Given the description of an element on the screen output the (x, y) to click on. 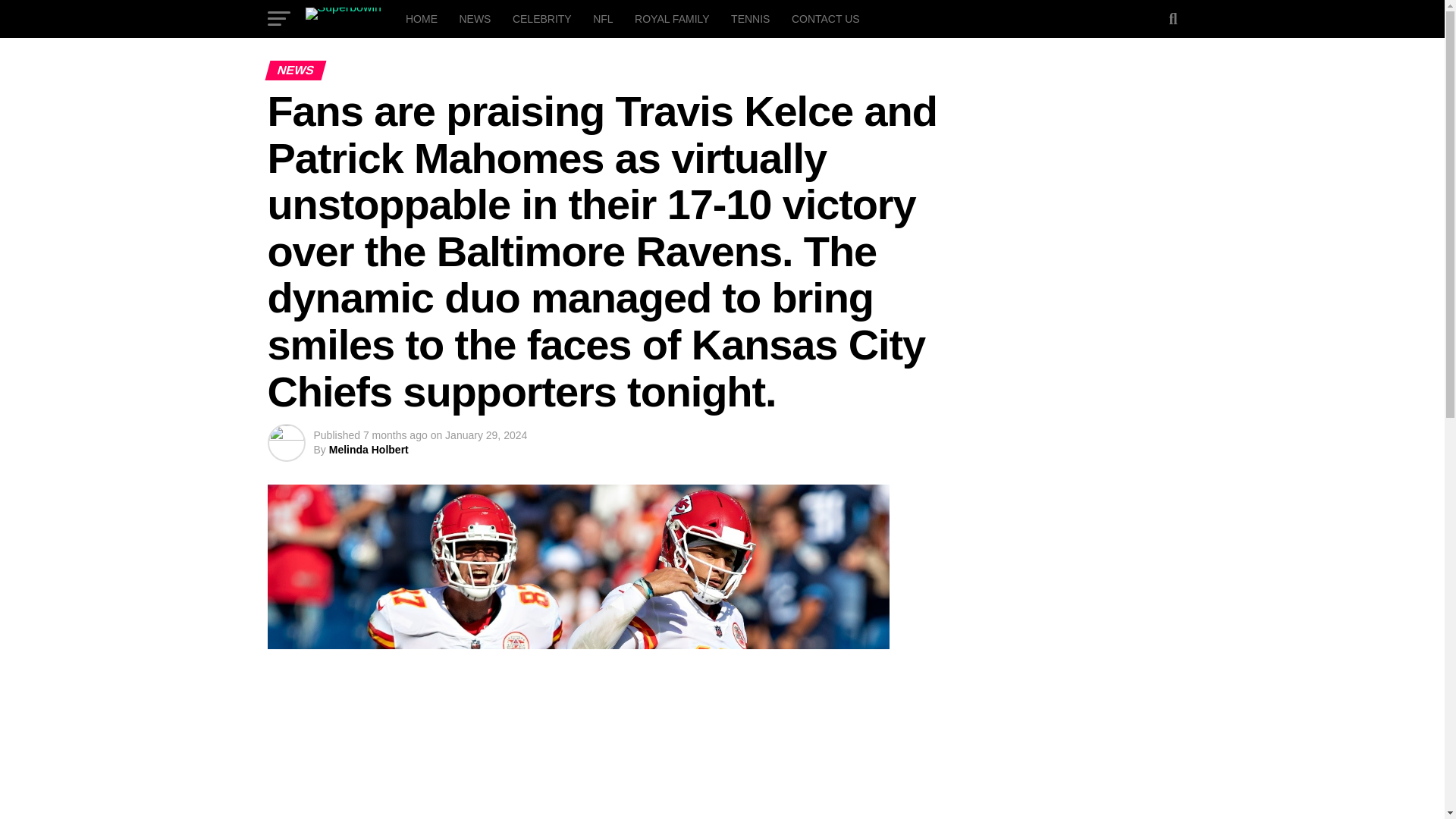
ROYAL FAMILY (672, 18)
NFL (602, 18)
CONTACT US (826, 18)
HOME (421, 18)
Melinda Holbert (369, 449)
NEWS (474, 18)
CELEBRITY (541, 18)
Posts by Melinda Holbert (369, 449)
TENNIS (750, 18)
